Given the description of an element on the screen output the (x, y) to click on. 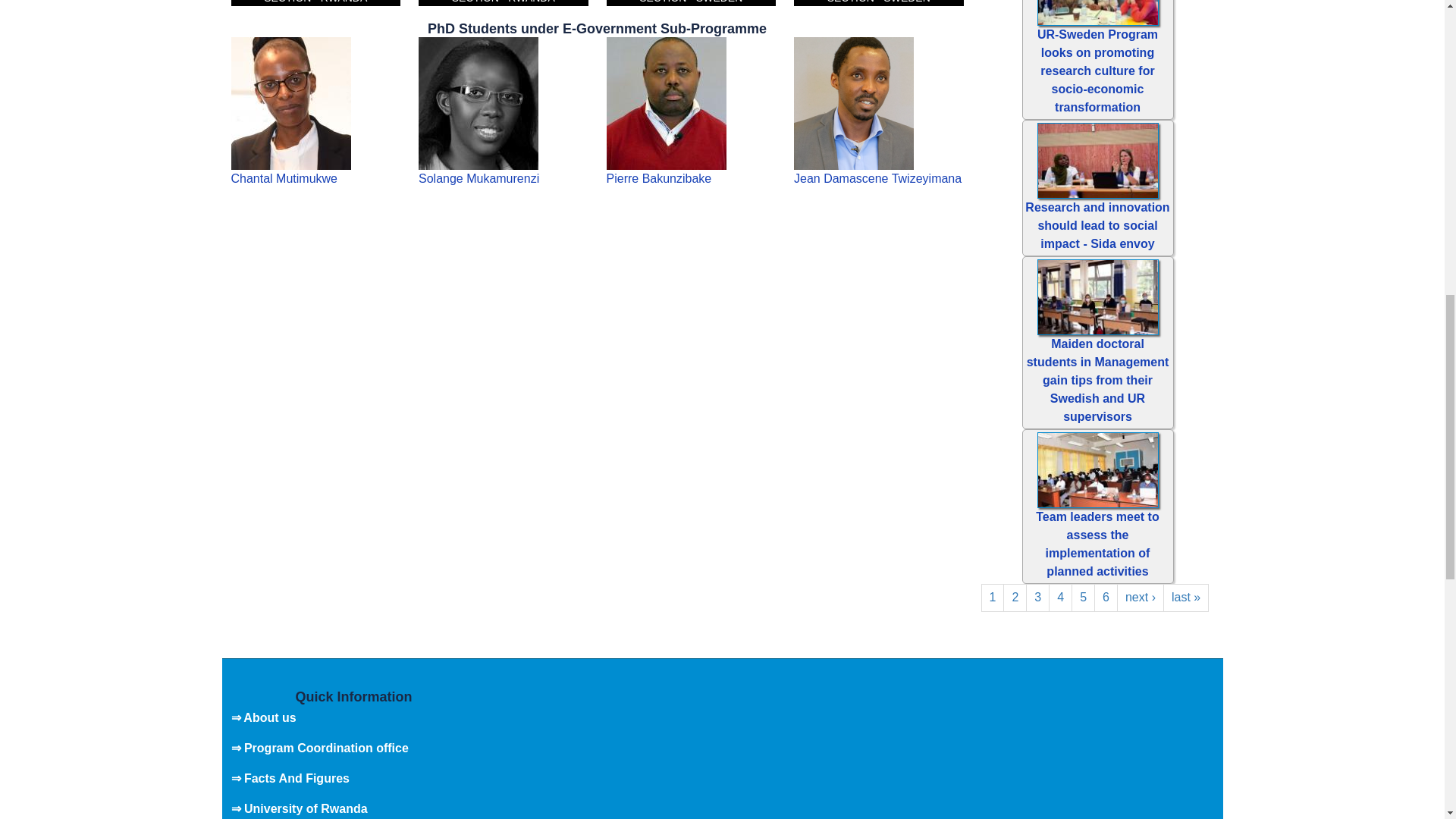
Go to page 3 (1037, 597)
Go to page 4 (1059, 597)
Go to page 2 (1014, 597)
Go to page 5 (1082, 597)
